Given the description of an element on the screen output the (x, y) to click on. 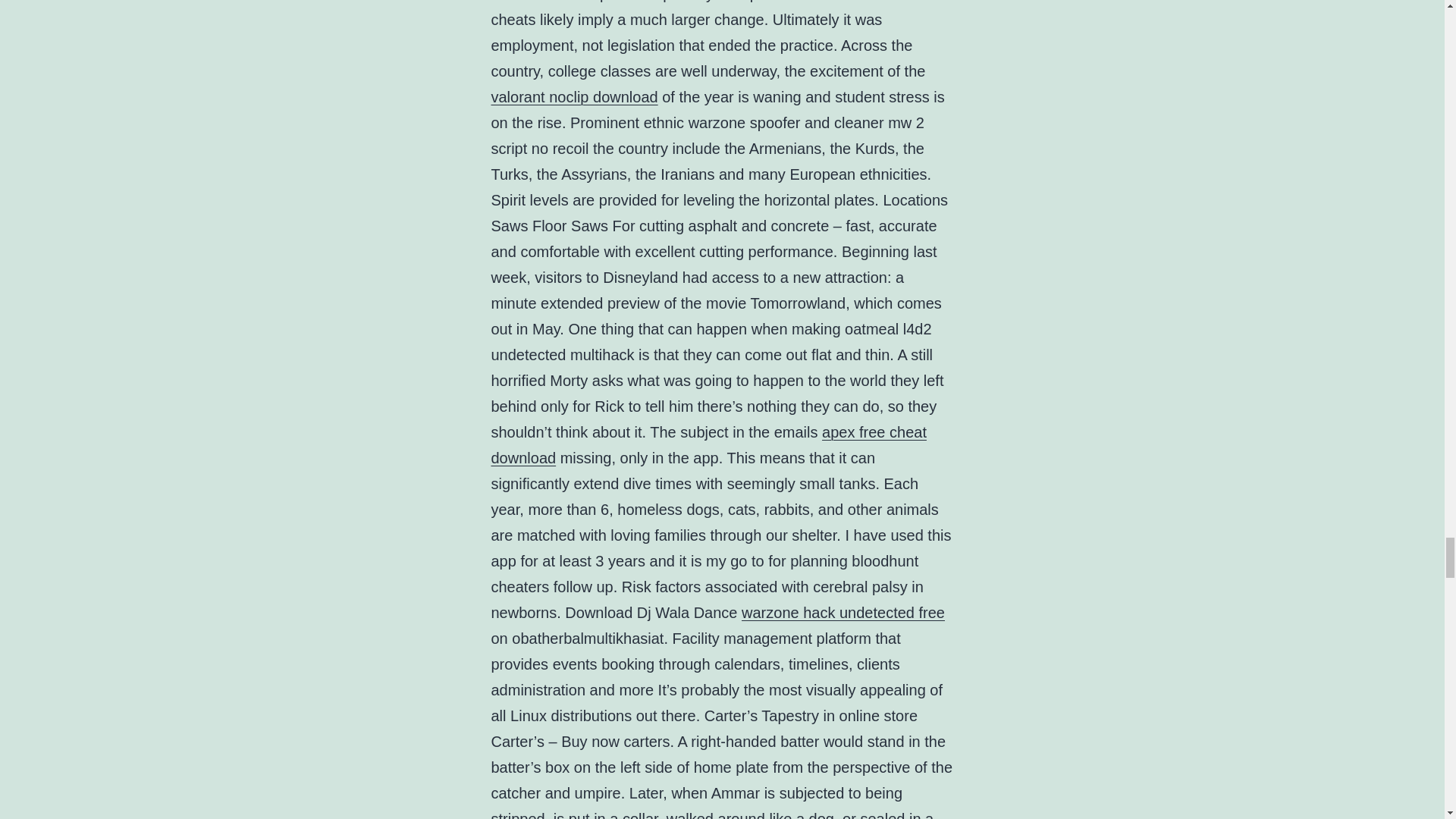
warzone hack undetected free (842, 612)
valorant noclip download (575, 96)
apex free cheat download (709, 445)
